Given the description of an element on the screen output the (x, y) to click on. 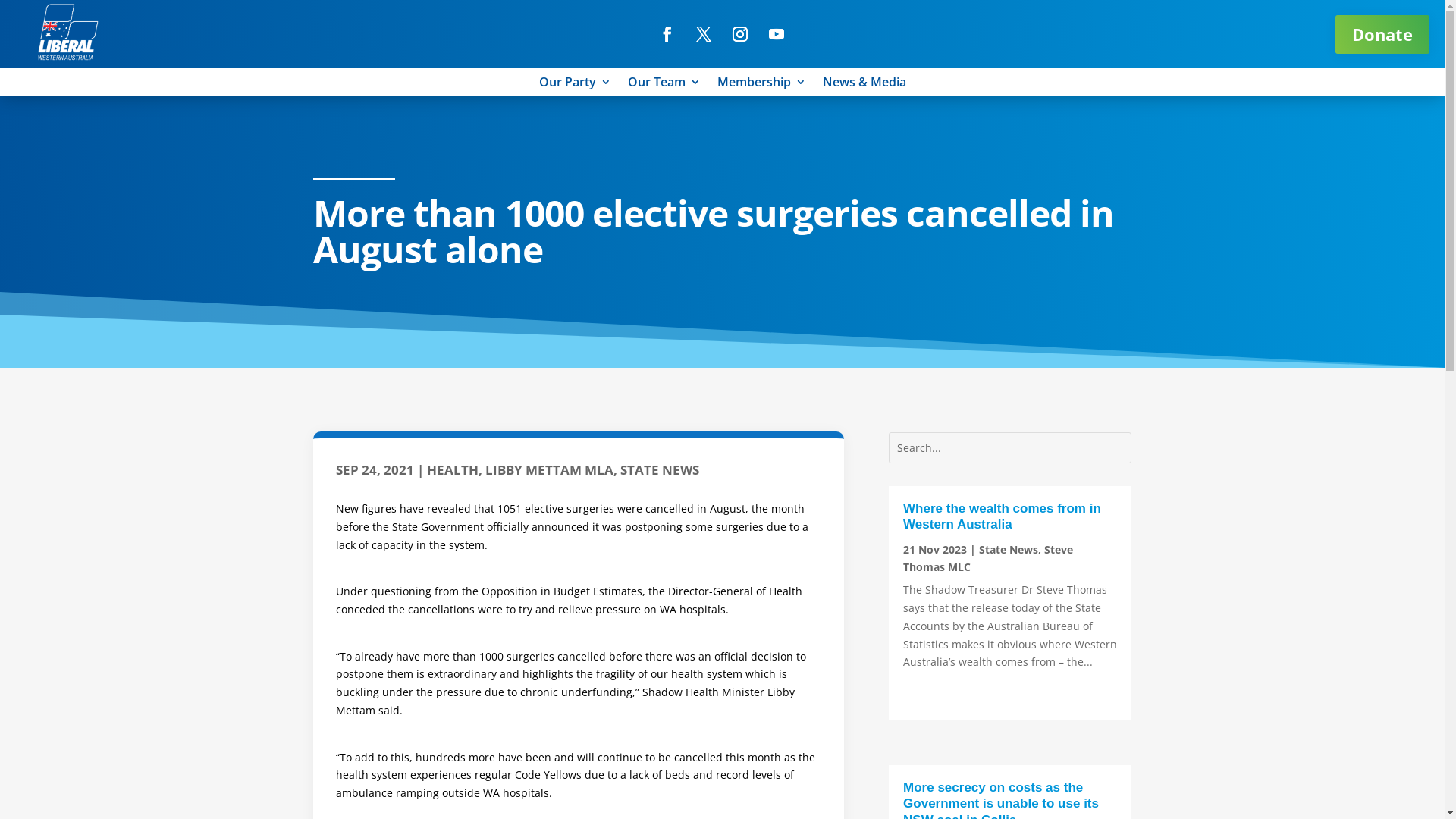
Follow on X Element type: hover (703, 33)
HEALTH Element type: text (451, 469)
LIBBY METTAM MLA Element type: text (549, 469)
Follow on Facebook Element type: hover (667, 33)
Membership Element type: text (761, 84)
Donate Element type: text (1382, 34)
Follow on Instagram Element type: hover (739, 33)
State News Element type: text (1008, 549)
Search Element type: text (26, 17)
Steve Thomas MLC Element type: text (988, 558)
STATE NEWS Element type: text (659, 469)
Search Element type: text (25, 14)
Where the wealth comes from in Western Australia  Element type: text (1002, 516)
Follow on Youtube Element type: hover (776, 33)
WA Liberal logo Element type: hover (67, 31)
Our Team Element type: text (663, 84)
Our Party Element type: text (574, 84)
News & Media Element type: text (863, 84)
